Given the description of an element on the screen output the (x, y) to click on. 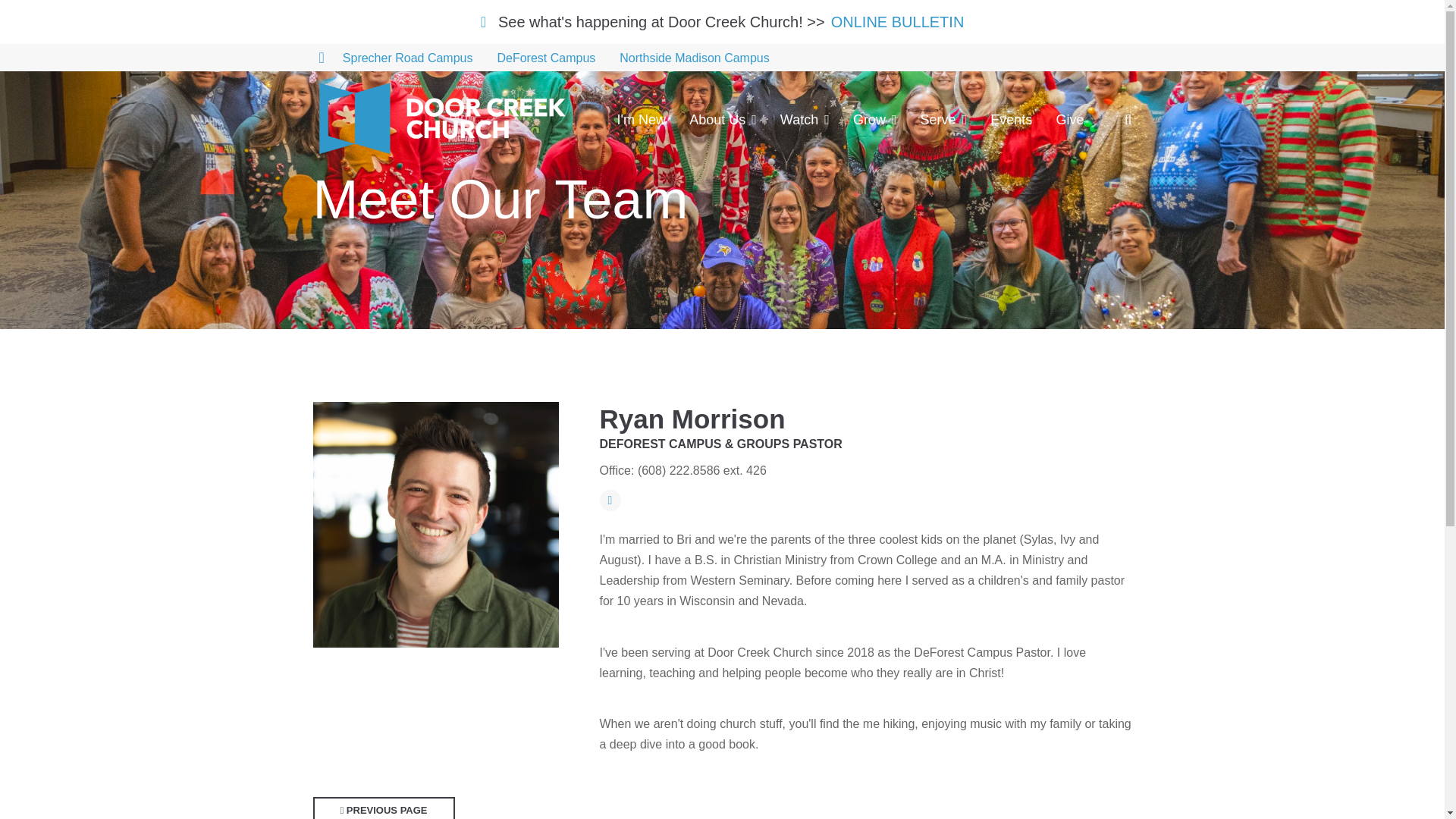
Watch (804, 119)
Email (609, 500)
Grow (874, 119)
DeForest Campus (545, 57)
Northside Madison Campus (693, 57)
About Us (722, 119)
I'm New (641, 119)
Sprecher Road Campus (407, 57)
